Given the description of an element on the screen output the (x, y) to click on. 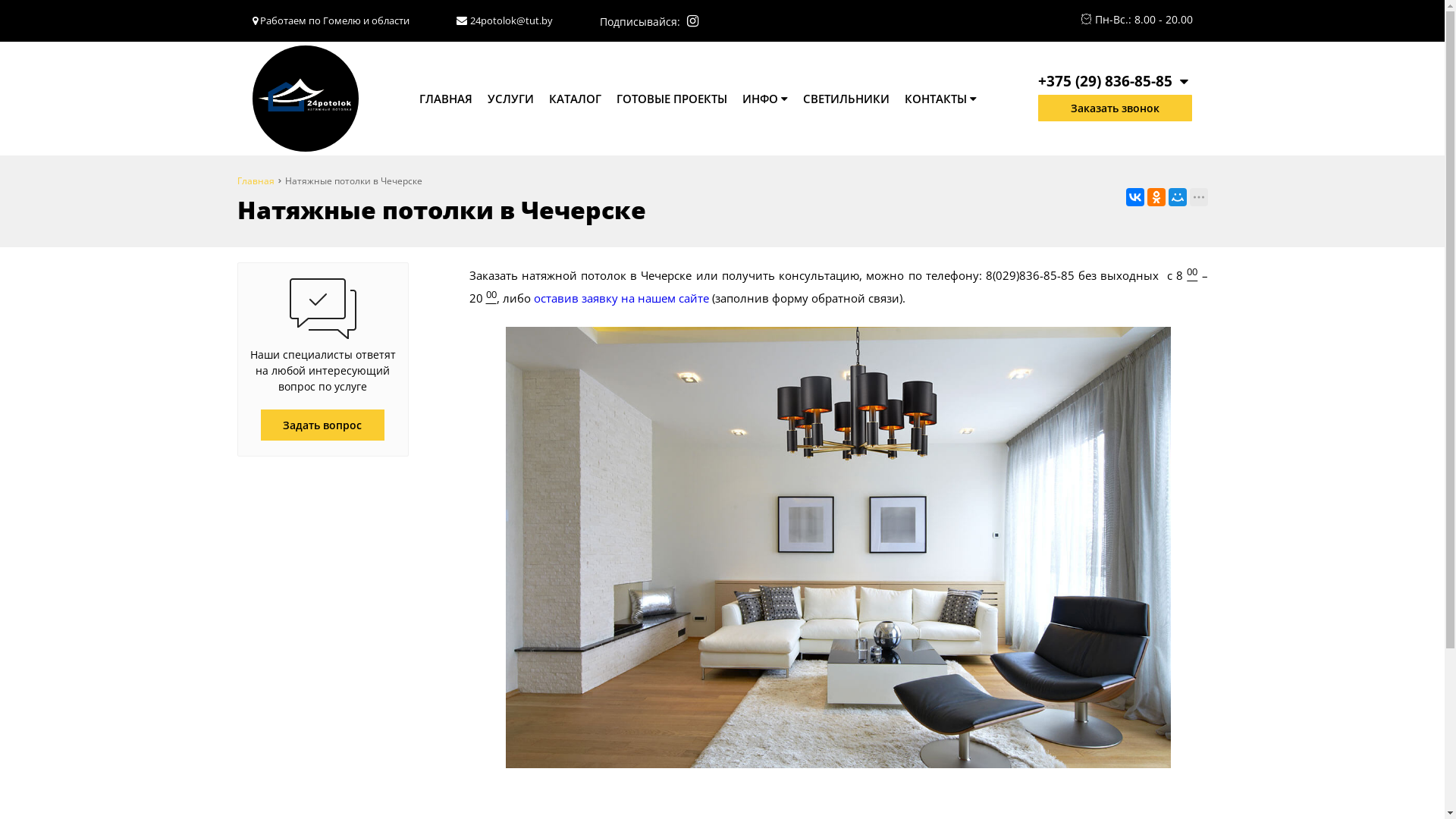
24potolok@tut.by Element type: text (511, 20)
